Given the description of an element on the screen output the (x, y) to click on. 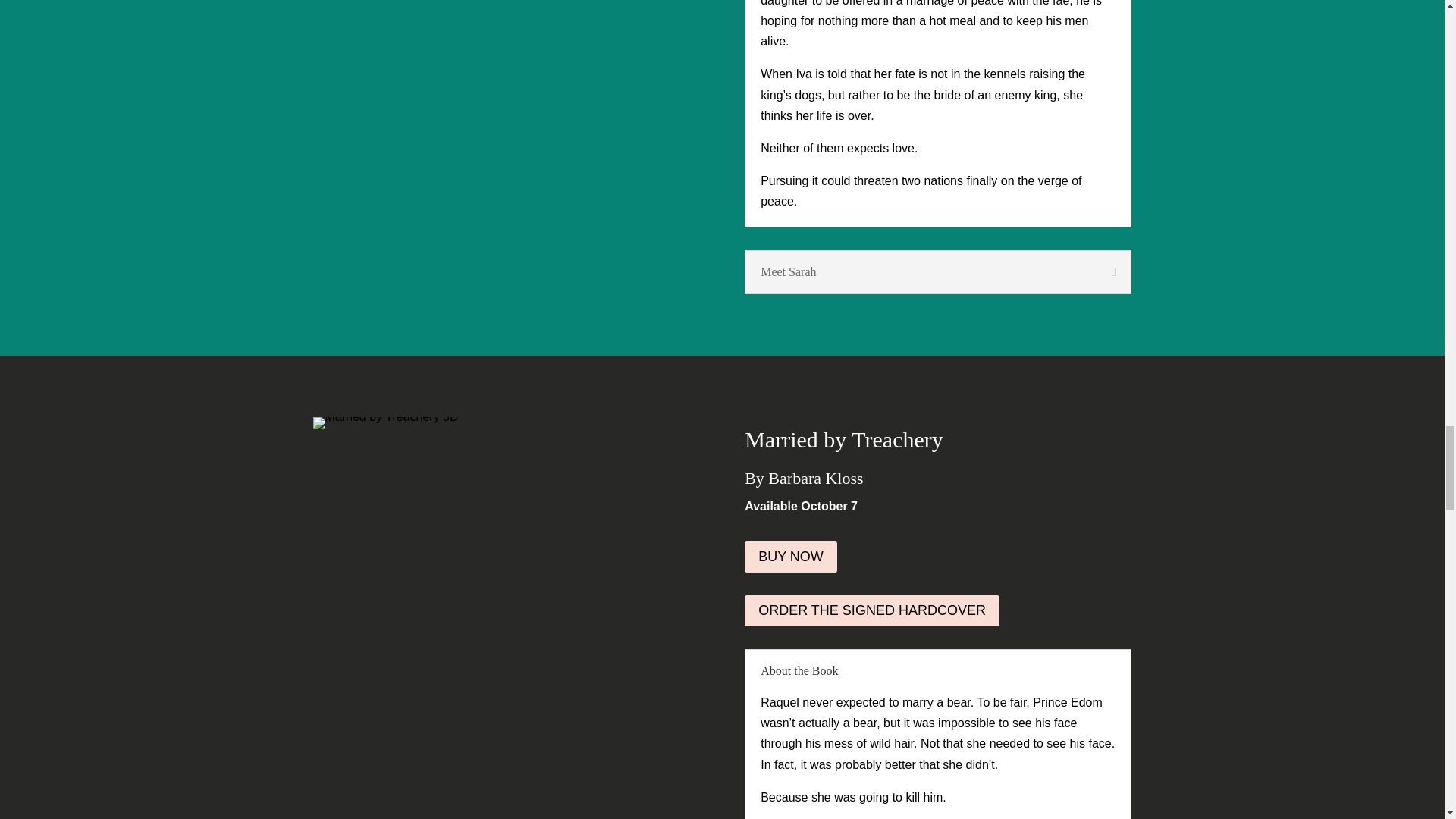
BUY NOW (790, 556)
ORDER THE SIGNED HARDCOVER (871, 610)
Married by Treachery 3D (385, 422)
